Given the description of an element on the screen output the (x, y) to click on. 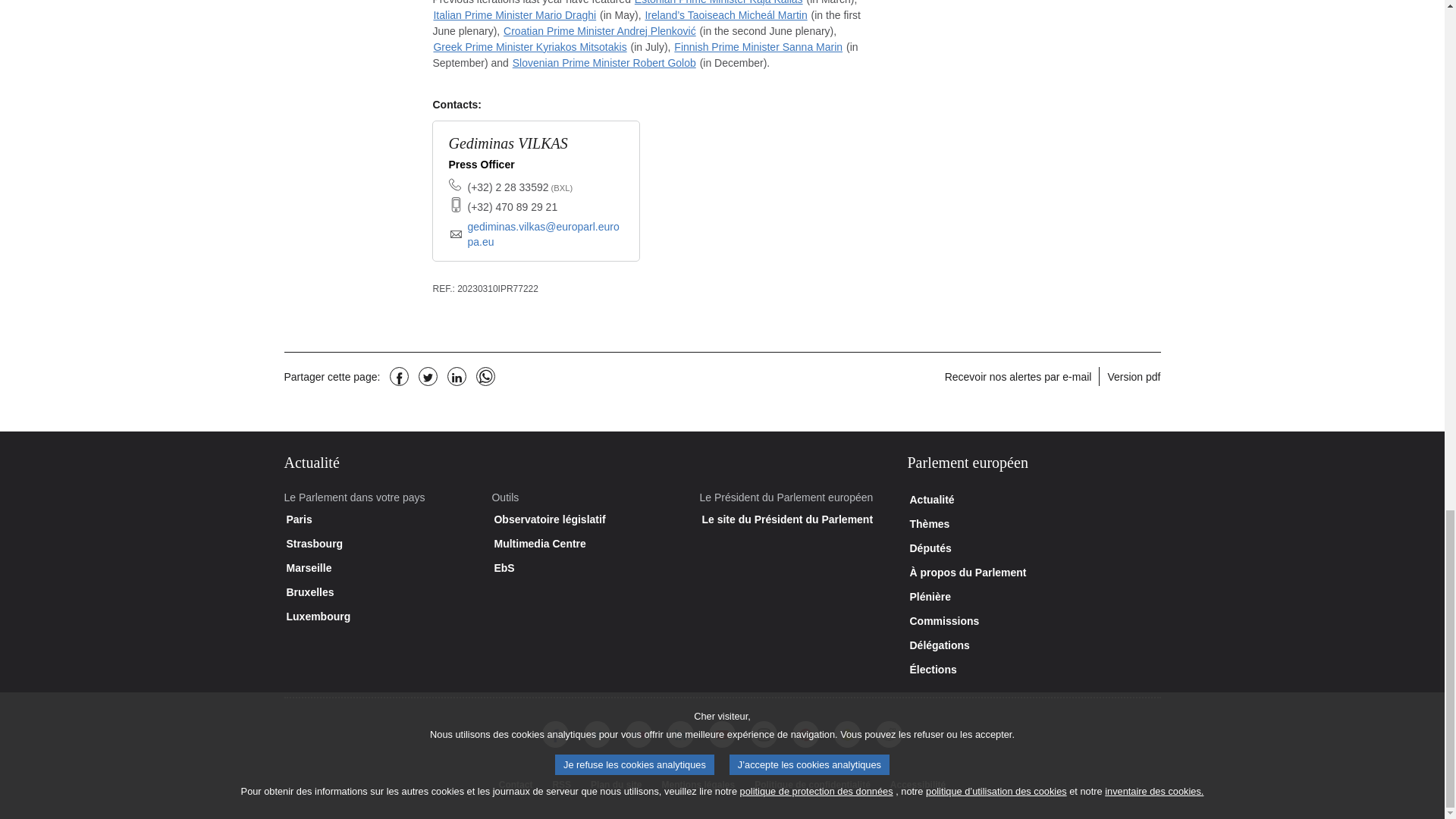
Bruxelles (560, 187)
Partager cette page sur Facebook (399, 375)
Partager cette page sur WhatsApp (485, 375)
Partager cette page sur LinkedIn (455, 375)
Partager cette page sur Twitter (428, 375)
